Given the description of an element on the screen output the (x, y) to click on. 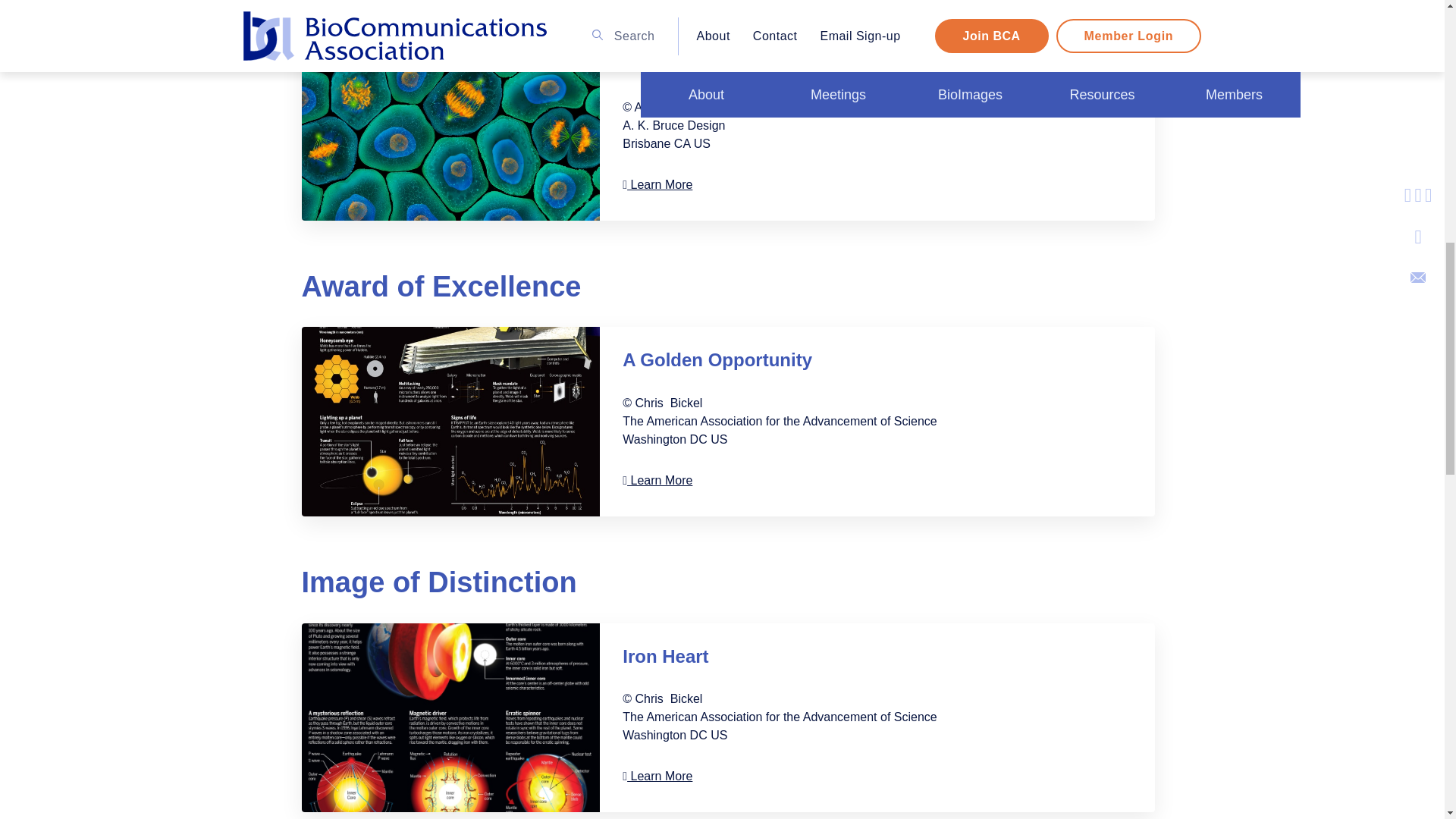
A Golden Opportunity (450, 421)
Mitosis (658, 184)
Mitosis (450, 125)
